Given the description of an element on the screen output the (x, y) to click on. 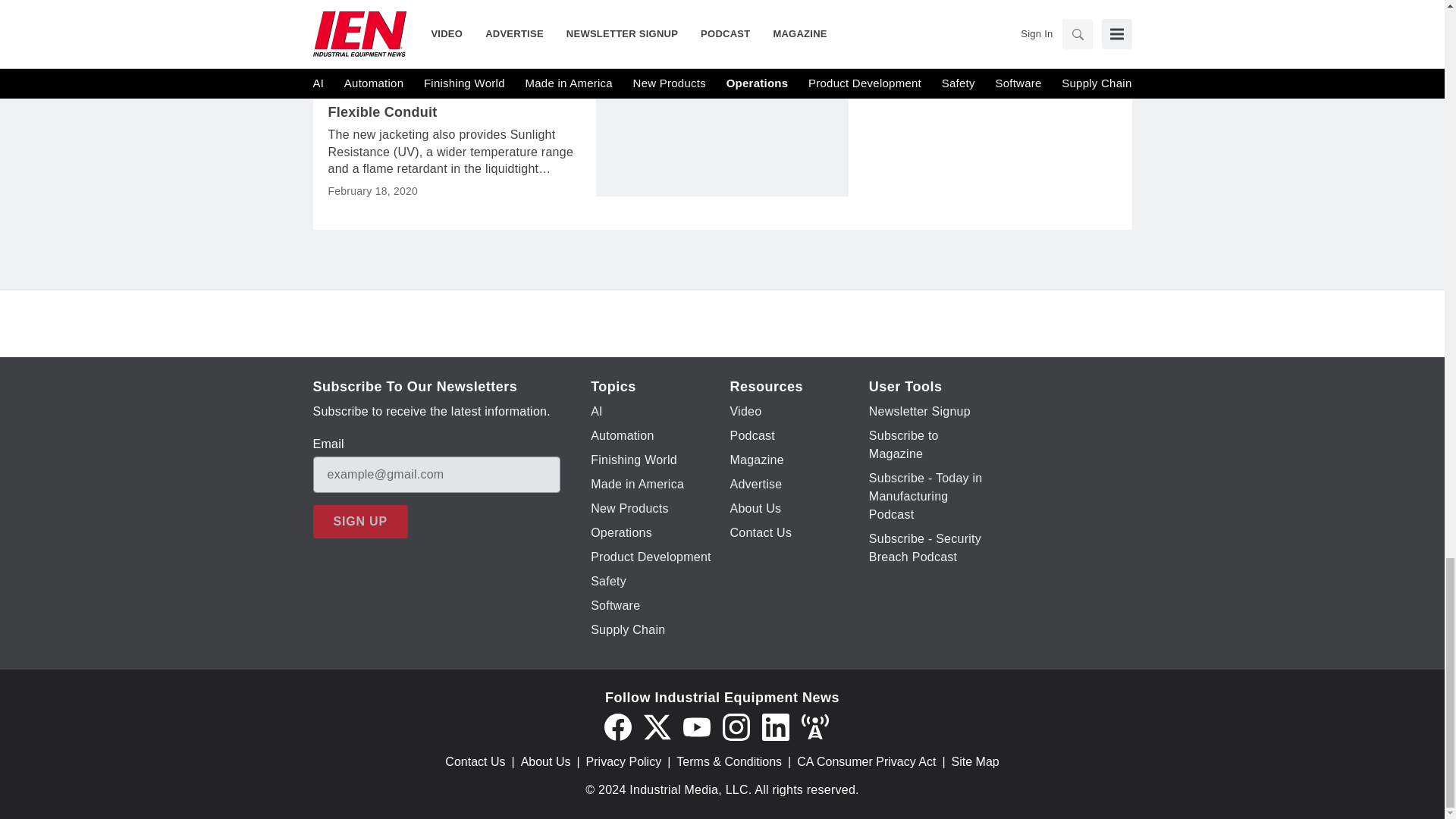
Instagram icon (735, 727)
New Products (381, 82)
Twitter X icon (656, 727)
YouTube icon (696, 727)
Facebook icon (617, 727)
LinkedIn icon (775, 727)
